Given the description of an element on the screen output the (x, y) to click on. 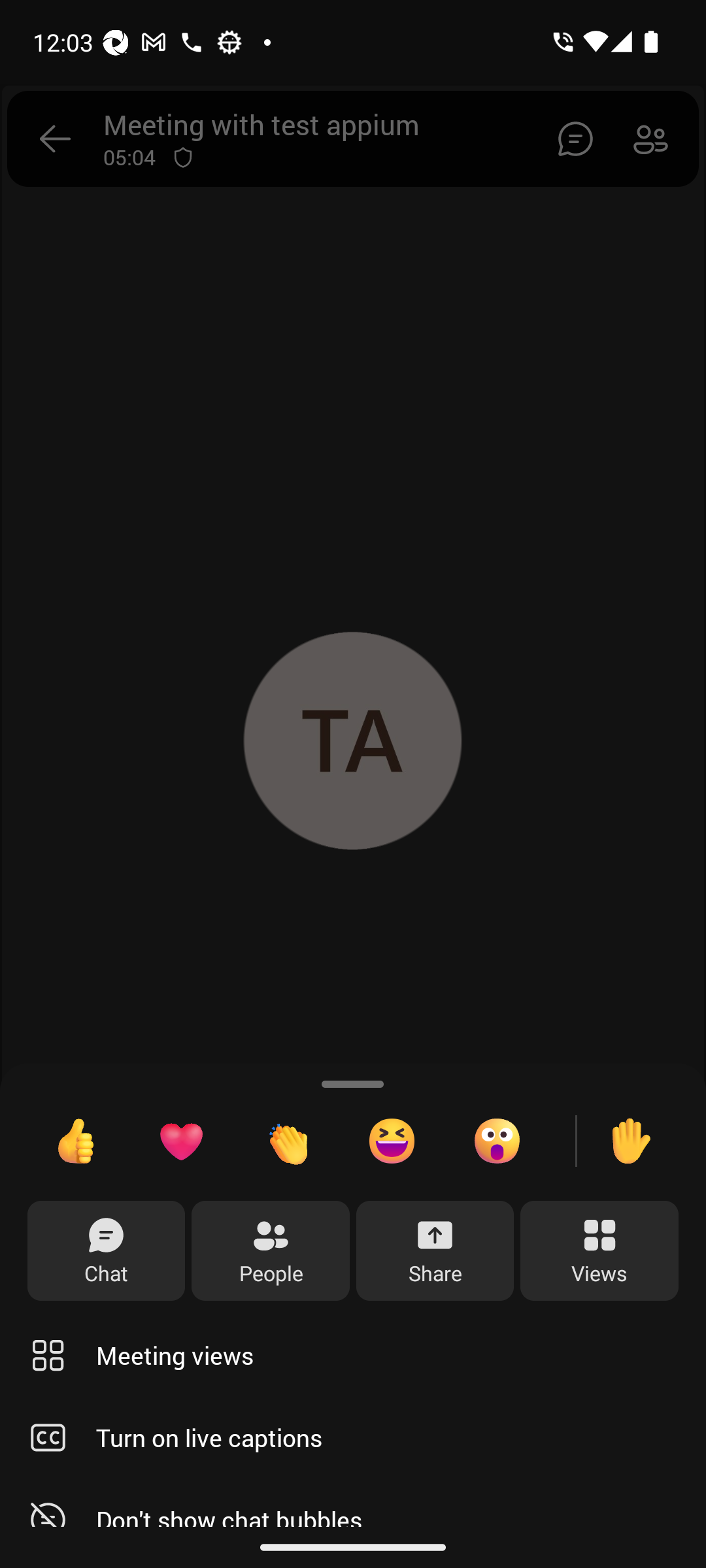
like, 1 of 5 (75, 1140)
heart, 2 of 5 (180, 1140)
applause, 3 of 5 (286, 1140)
laugh, 4 of 5 (391, 1140)
surprised, 5 of 5 (496, 1140)
raise hand (629, 1140)
Chat (105, 1251)
Show participants / People People (270, 1251)
Share (434, 1251)
Views (599, 1251)
Meeting views (353, 1355)
Turn on live captions (353, 1437)
Don't show chat bubbles (353, 1502)
